Given the description of an element on the screen output the (x, y) to click on. 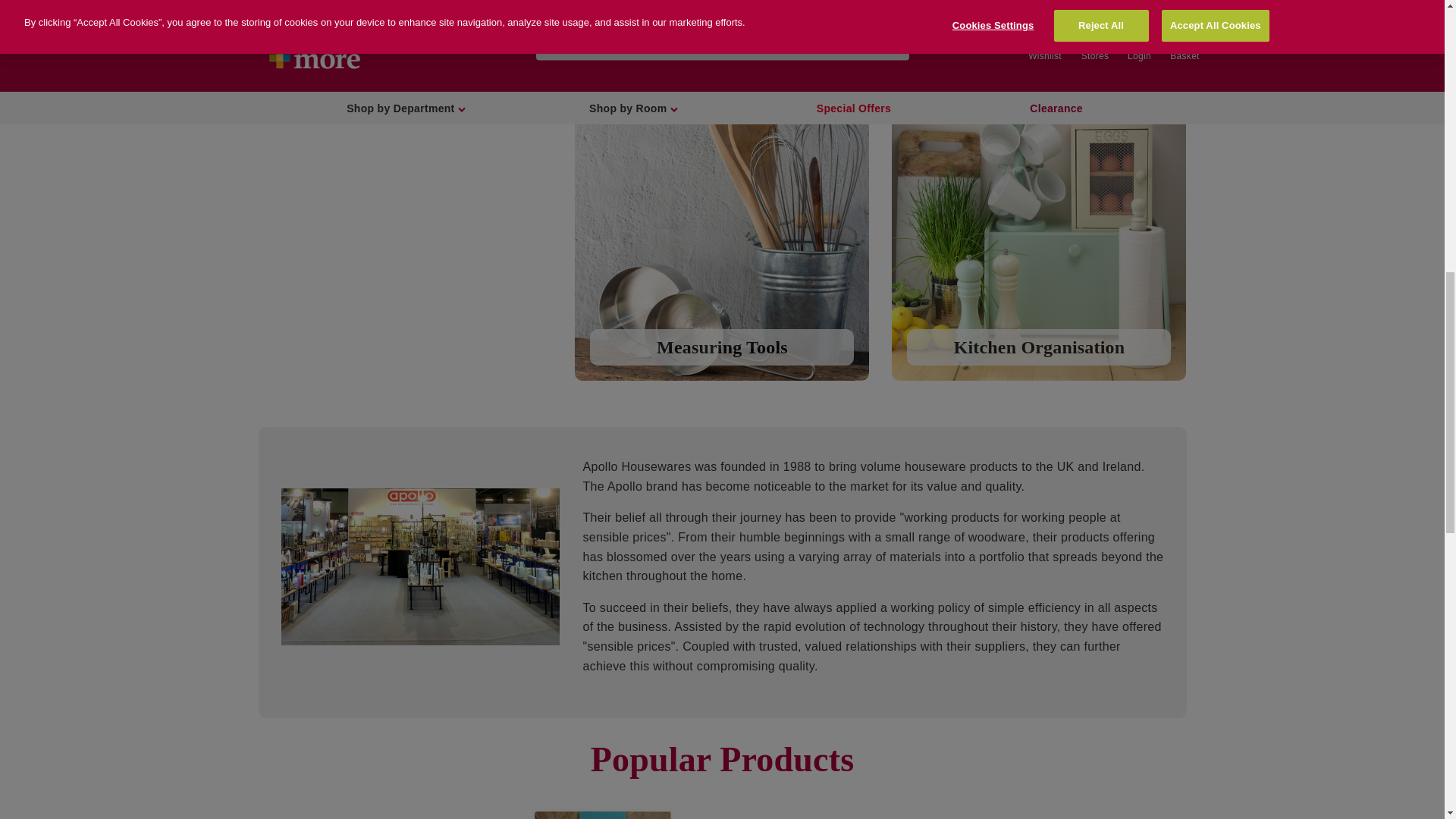
Apollo Rubberwood Endgrain Block Chopping Board (601, 813)
APOLLO BEECH MINT Mug Tree (842, 813)
Apollo Measuring Cups Set of 4 - Stainless Steel (359, 813)
